Given the description of an element on the screen output the (x, y) to click on. 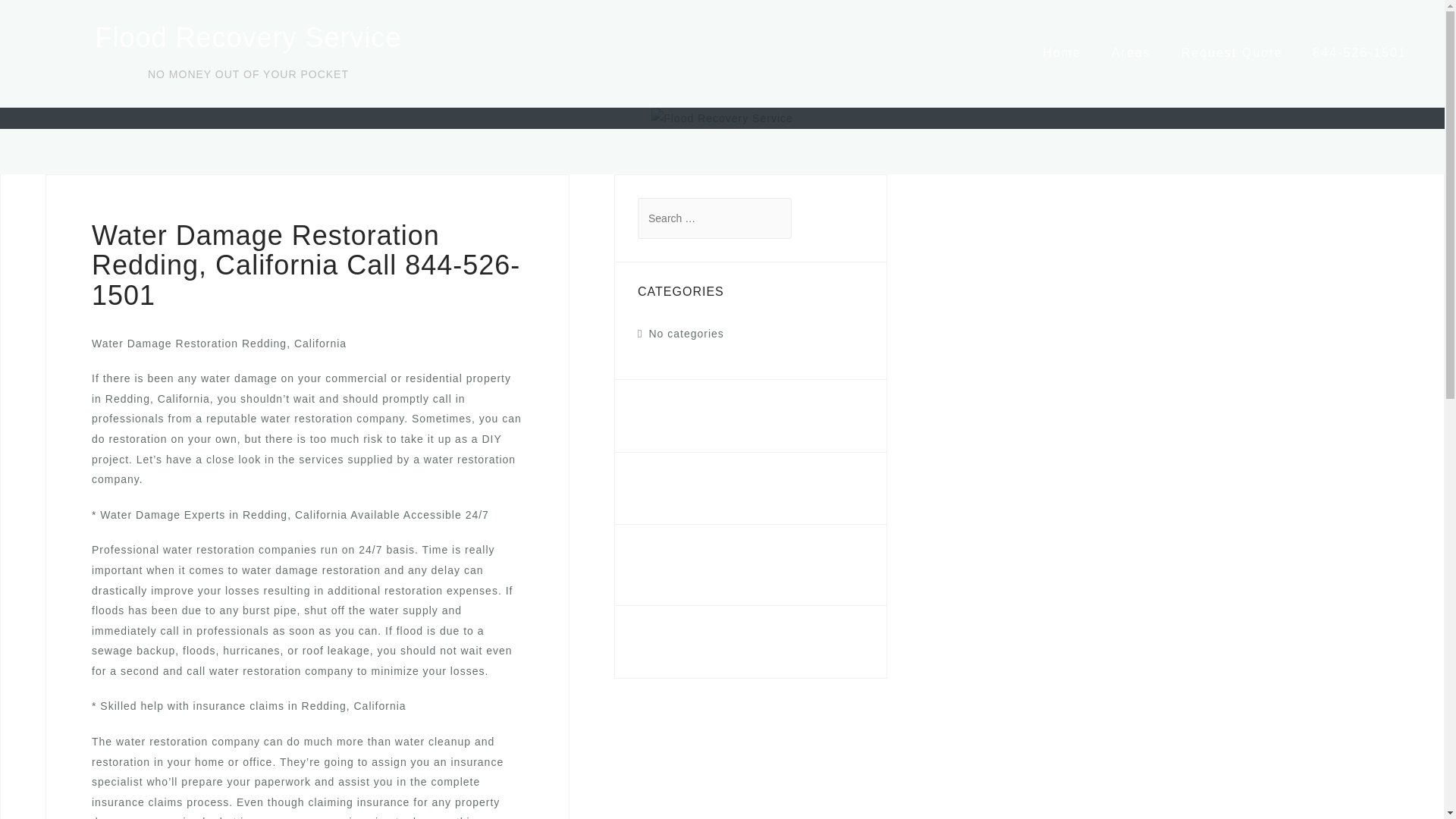
LOCATIONS (679, 488)
Home (1061, 52)
OUR BLOG (676, 415)
REQUEST A QUOTE (707, 641)
Search (54, 20)
844-526-1501 (675, 557)
Flood Recovery Service (247, 37)
Request Quote (1231, 52)
844-526-1501 (1359, 52)
Areas (1131, 52)
